Given the description of an element on the screen output the (x, y) to click on. 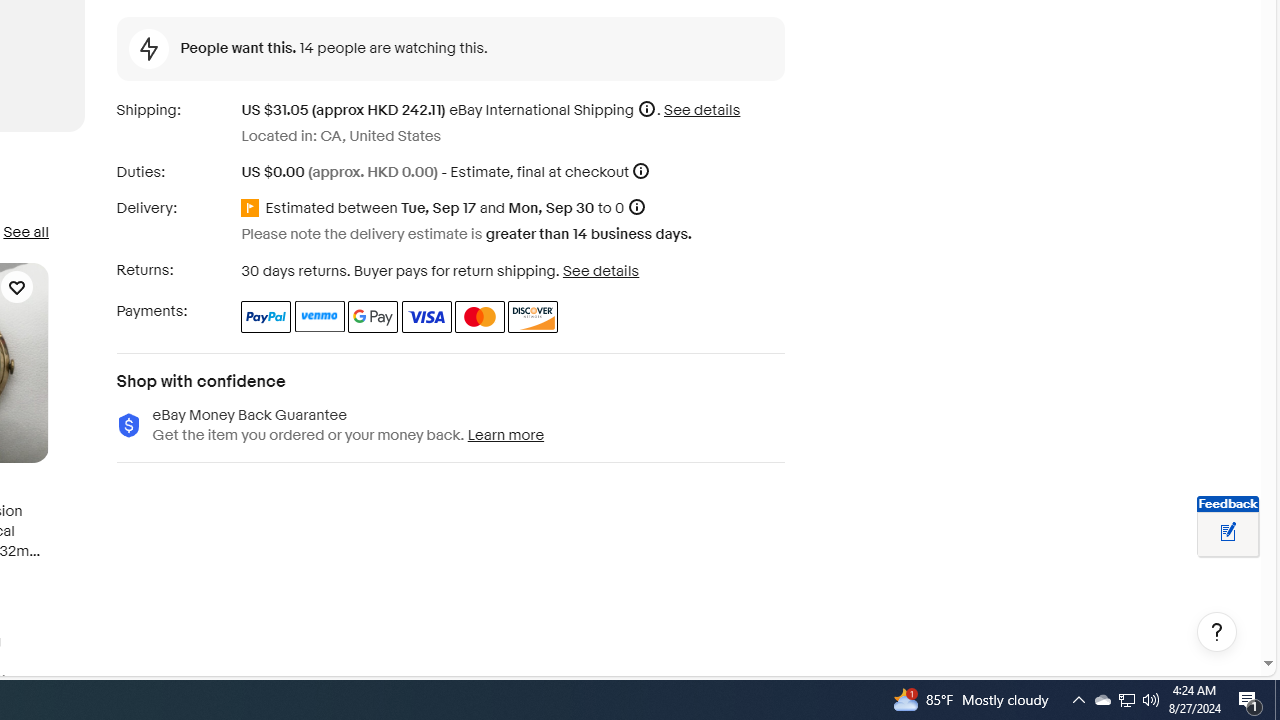
See details - for more information about returns (600, 270)
See all (25, 232)
Visa (425, 316)
See details for shipping (702, 110)
Google Pay (373, 316)
More information (641, 171)
PayPal (265, 316)
Master Card (479, 316)
Leave feedback about your eBay ViewItem experience (1227, 533)
Venmo (319, 316)
Help, opens dialogs (1217, 632)
